Given the description of an element on the screen output the (x, y) to click on. 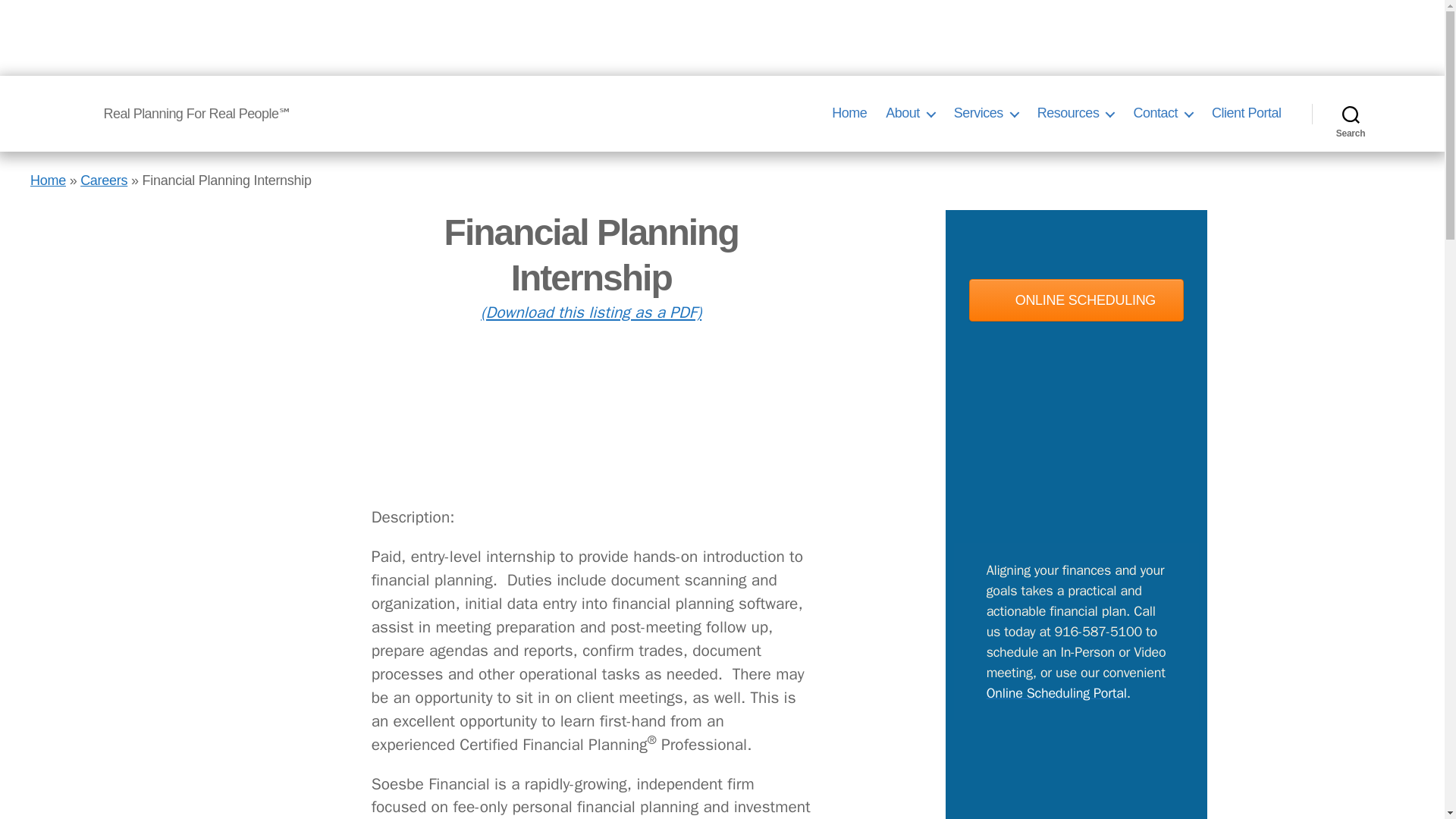
Services (985, 113)
Resources (1075, 113)
Search (1350, 113)
Home (47, 180)
About (909, 113)
Client Portal (1246, 113)
Home (848, 113)
Careers (104, 180)
Contact (1162, 113)
